Given the description of an element on the screen output the (x, y) to click on. 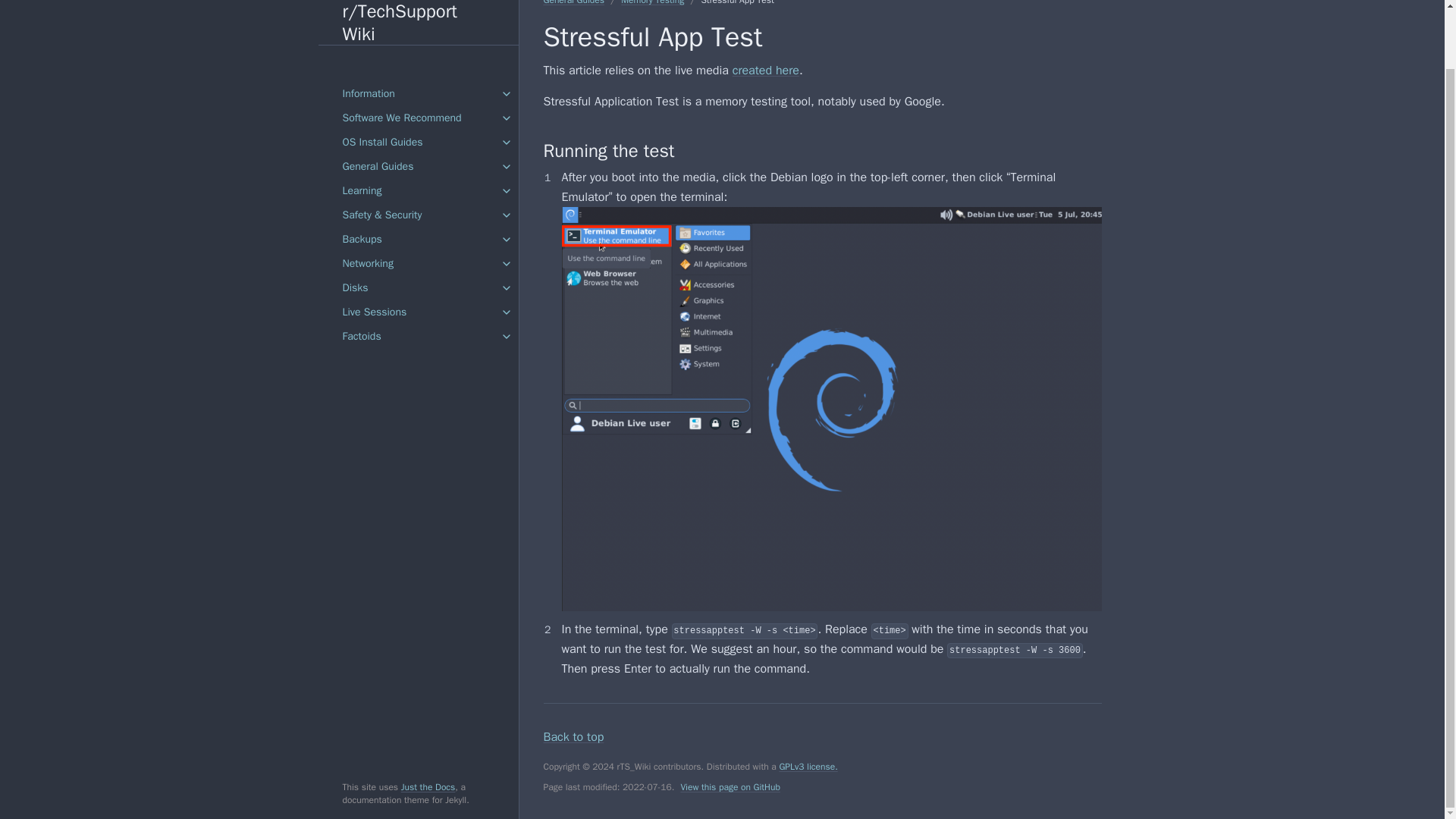
Information (418, 30)
General Guides (418, 102)
OS Install Guides (418, 78)
Software We Recommend (418, 54)
